Given the description of an element on the screen output the (x, y) to click on. 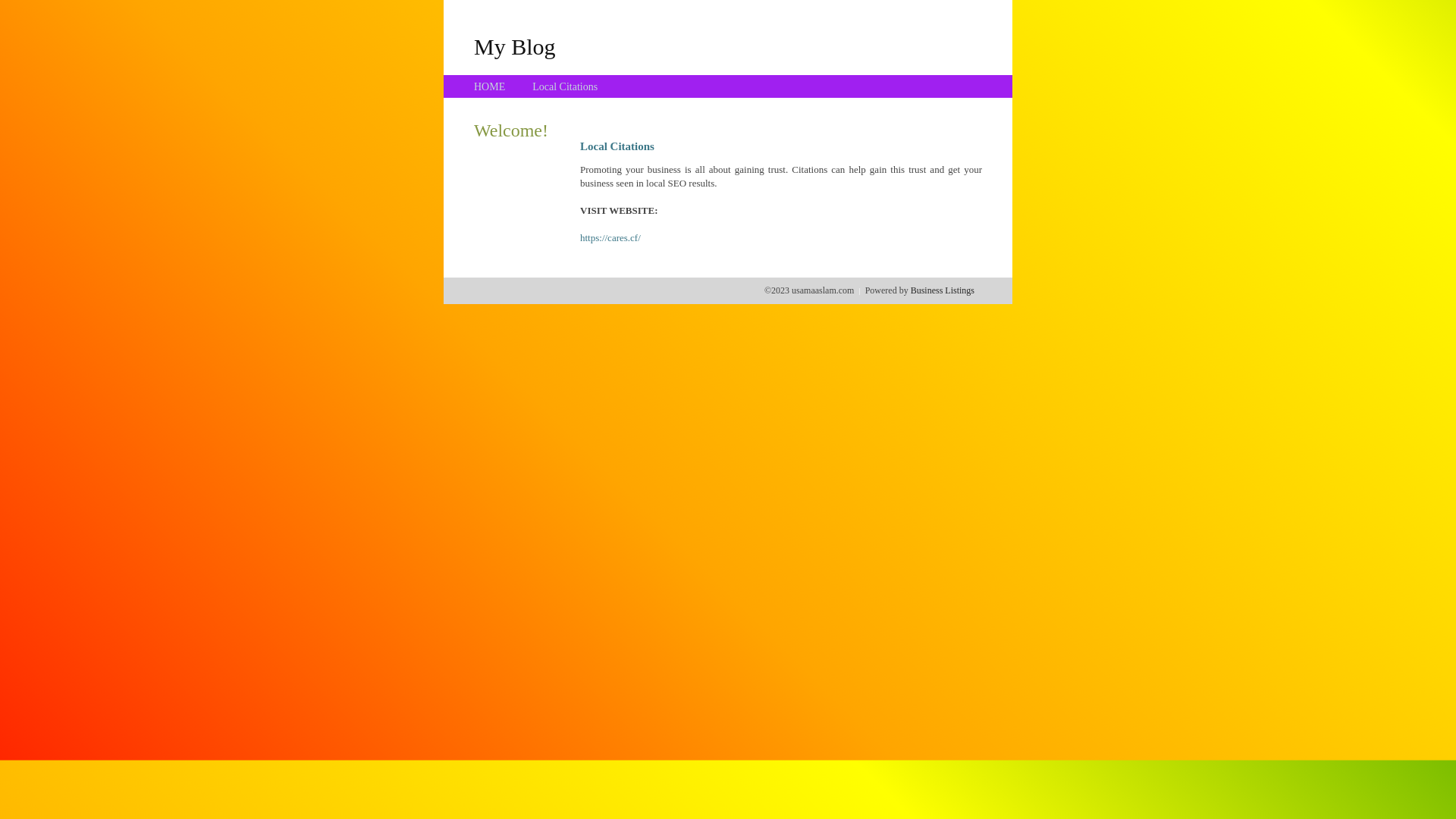
https://cares.cf/ Element type: text (610, 237)
My Blog Element type: text (514, 46)
HOME Element type: text (489, 86)
Business Listings Element type: text (942, 290)
Local Citations Element type: text (564, 86)
